Given the description of an element on the screen output the (x, y) to click on. 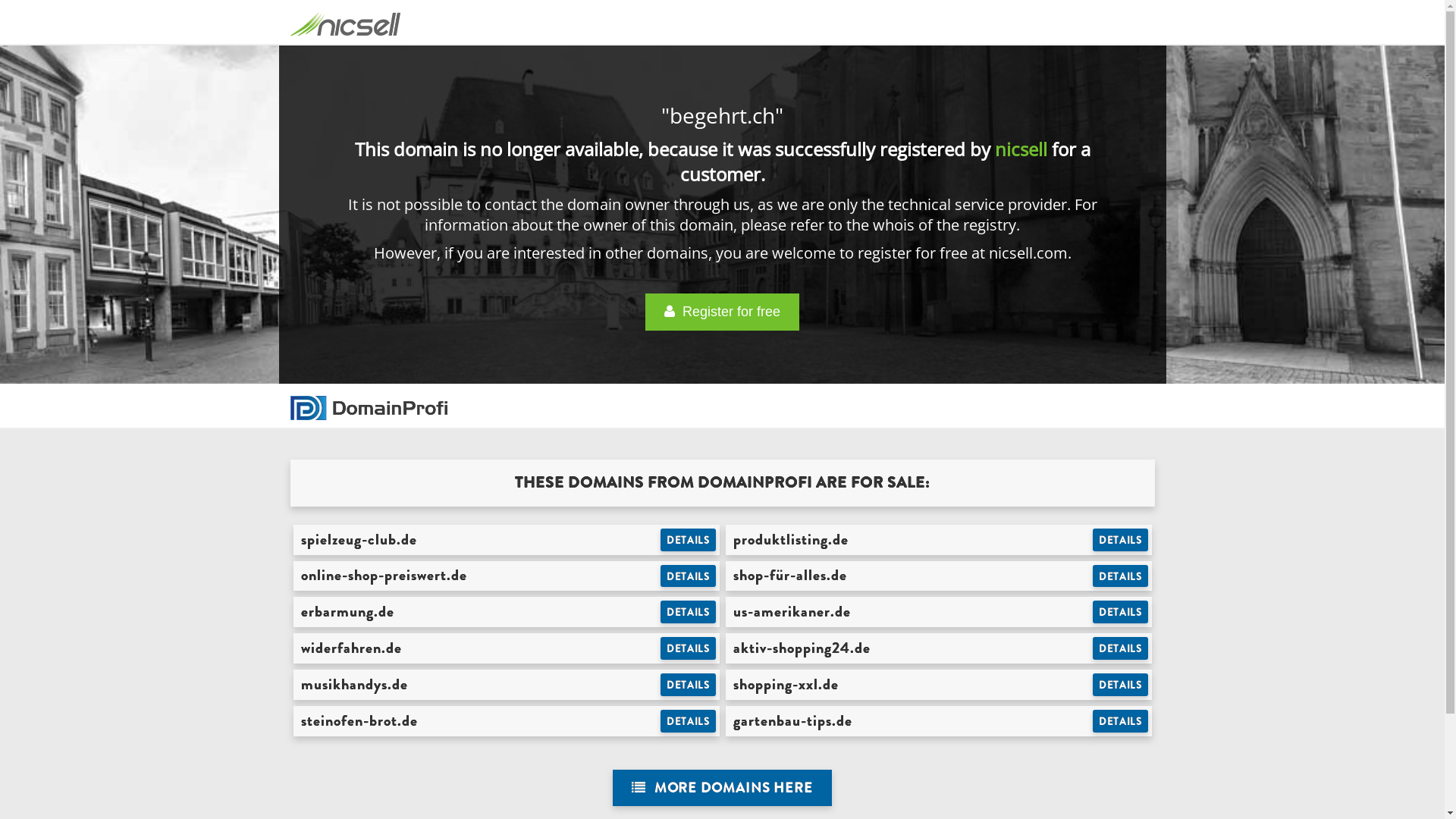
DETAILS Element type: text (687, 611)
DETAILS Element type: text (1120, 575)
DETAILS Element type: text (687, 648)
DETAILS Element type: text (687, 720)
DETAILS Element type: text (1120, 648)
  Register for free Element type: text (722, 311)
DETAILS Element type: text (687, 539)
DETAILS Element type: text (1120, 684)
DETAILS Element type: text (1120, 539)
DETAILS Element type: text (687, 575)
DETAILS Element type: text (1120, 611)
DETAILS Element type: text (687, 684)
DETAILS Element type: text (1120, 720)
nicsell Element type: text (1020, 148)
  MORE DOMAINS HERE Element type: text (721, 787)
